Given the description of an element on the screen output the (x, y) to click on. 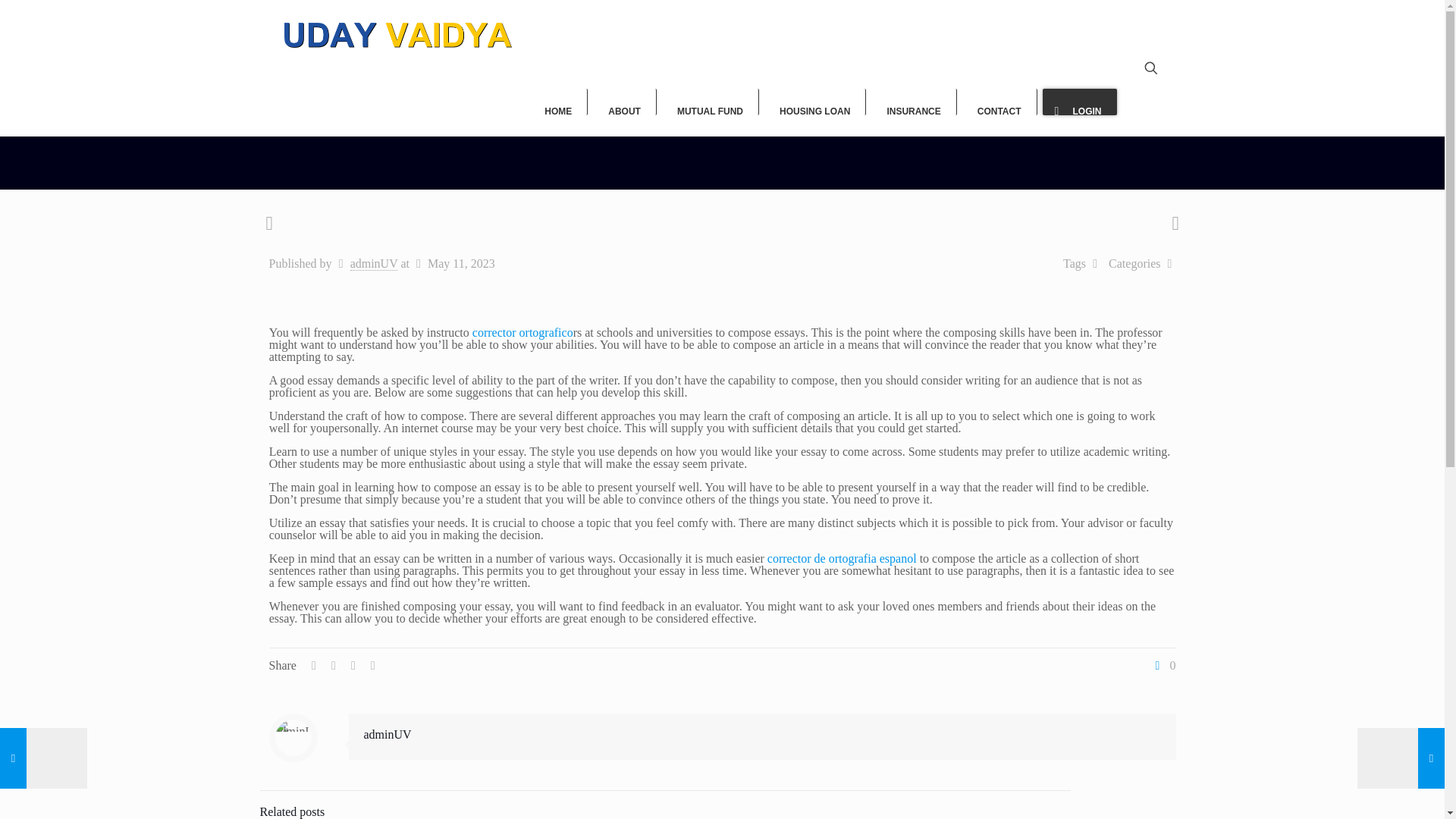
HOME (560, 101)
LOGIN (1081, 101)
adminUV (388, 734)
HOUSING LOAN (817, 101)
ABOUT (627, 101)
MUTUAL FUND (713, 101)
corrector ortografico (522, 332)
adminUV (373, 264)
INSURANCE (915, 101)
0 (1162, 665)
